Given the description of an element on the screen output the (x, y) to click on. 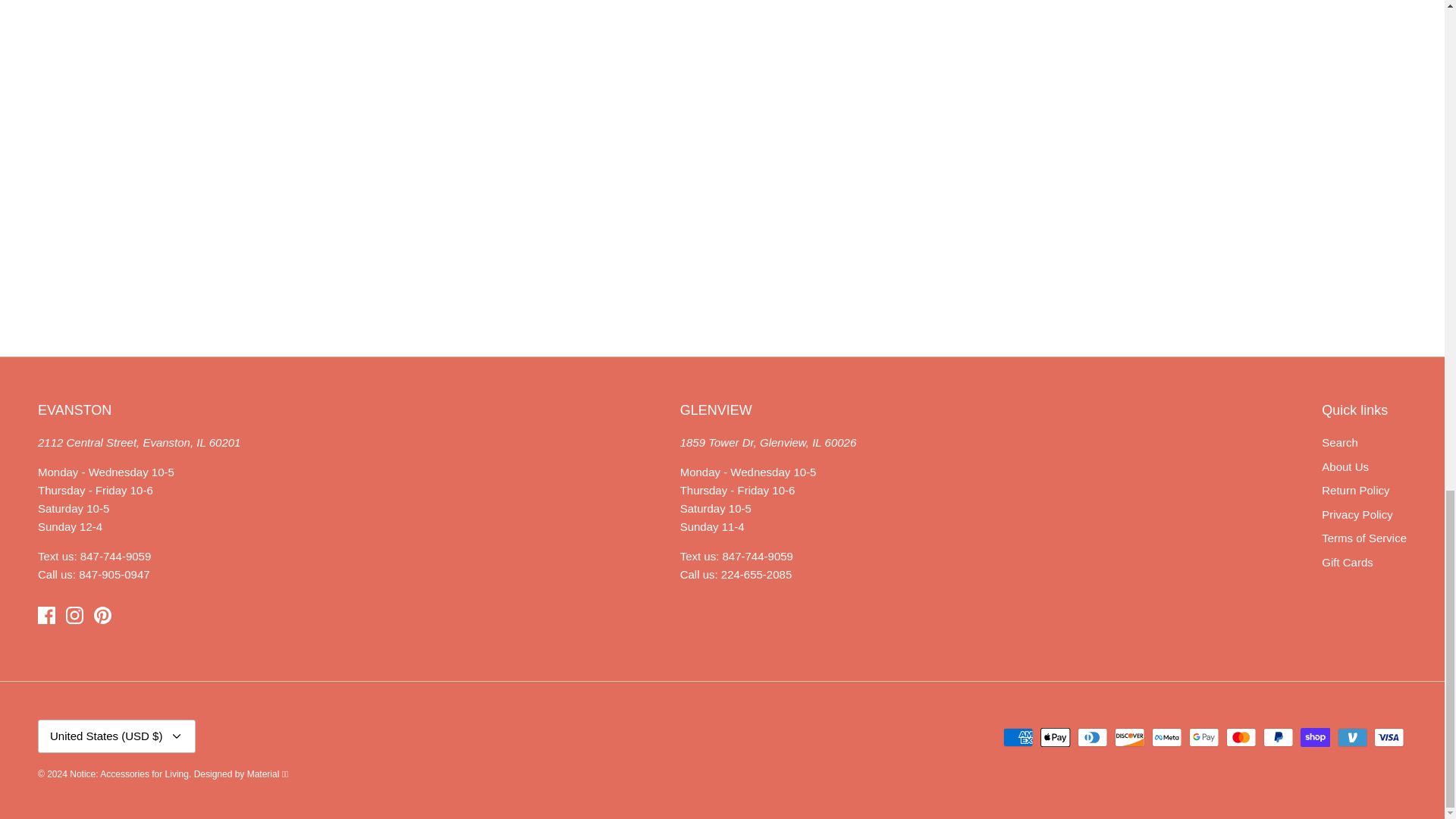
Instagram (73, 615)
Apple Pay (1055, 737)
Mastercard (1240, 737)
Pinterest (103, 615)
PayPal (1277, 737)
Diners Club (1092, 737)
American Express (1018, 737)
Facebook (46, 615)
Meta Pay (1166, 737)
Discover (1129, 737)
Google Pay (1203, 737)
